Given the description of an element on the screen output the (x, y) to click on. 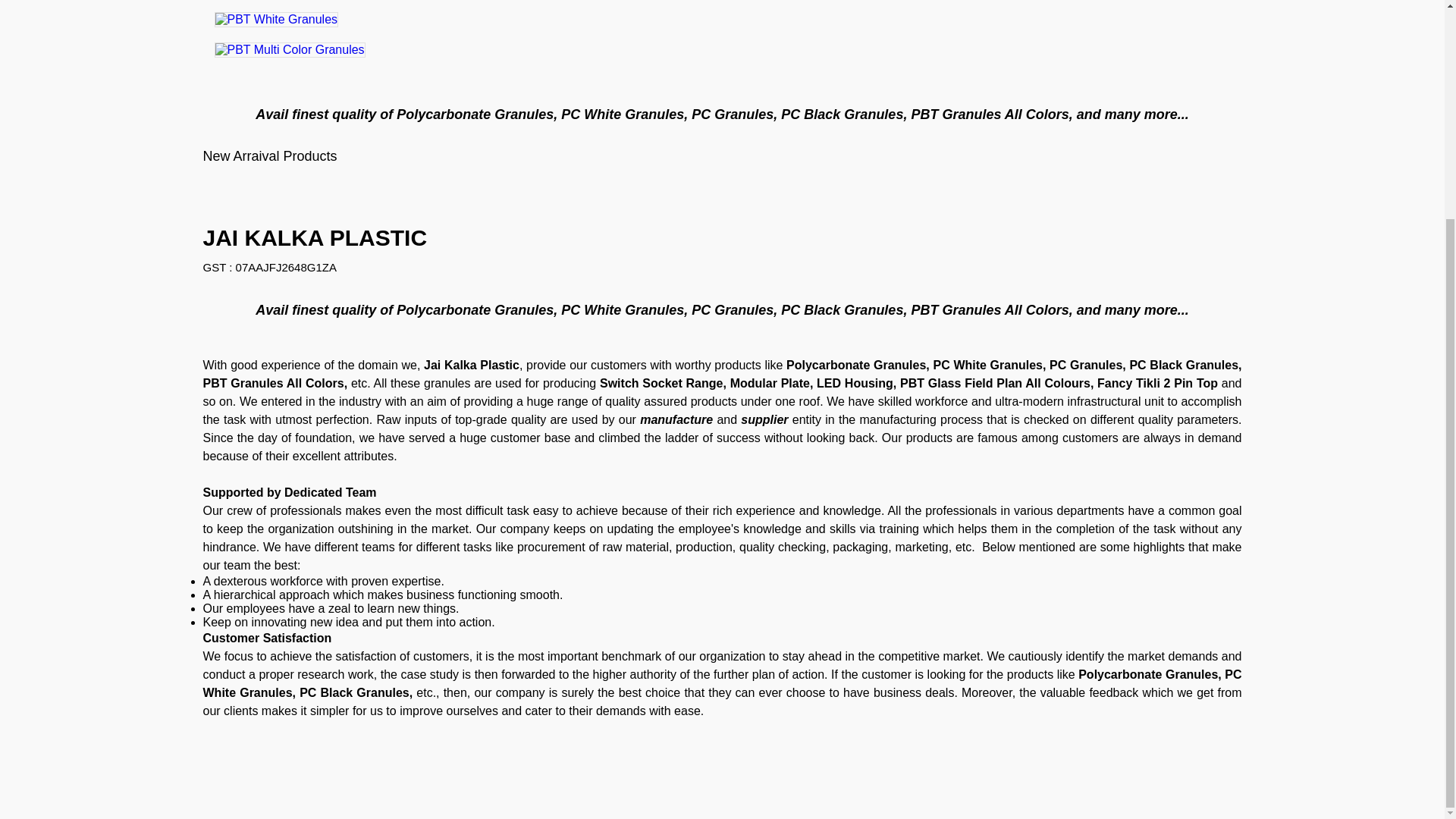
PBT White Granules (275, 19)
PBT Multi Color Granules (289, 49)
